Given the description of an element on the screen output the (x, y) to click on. 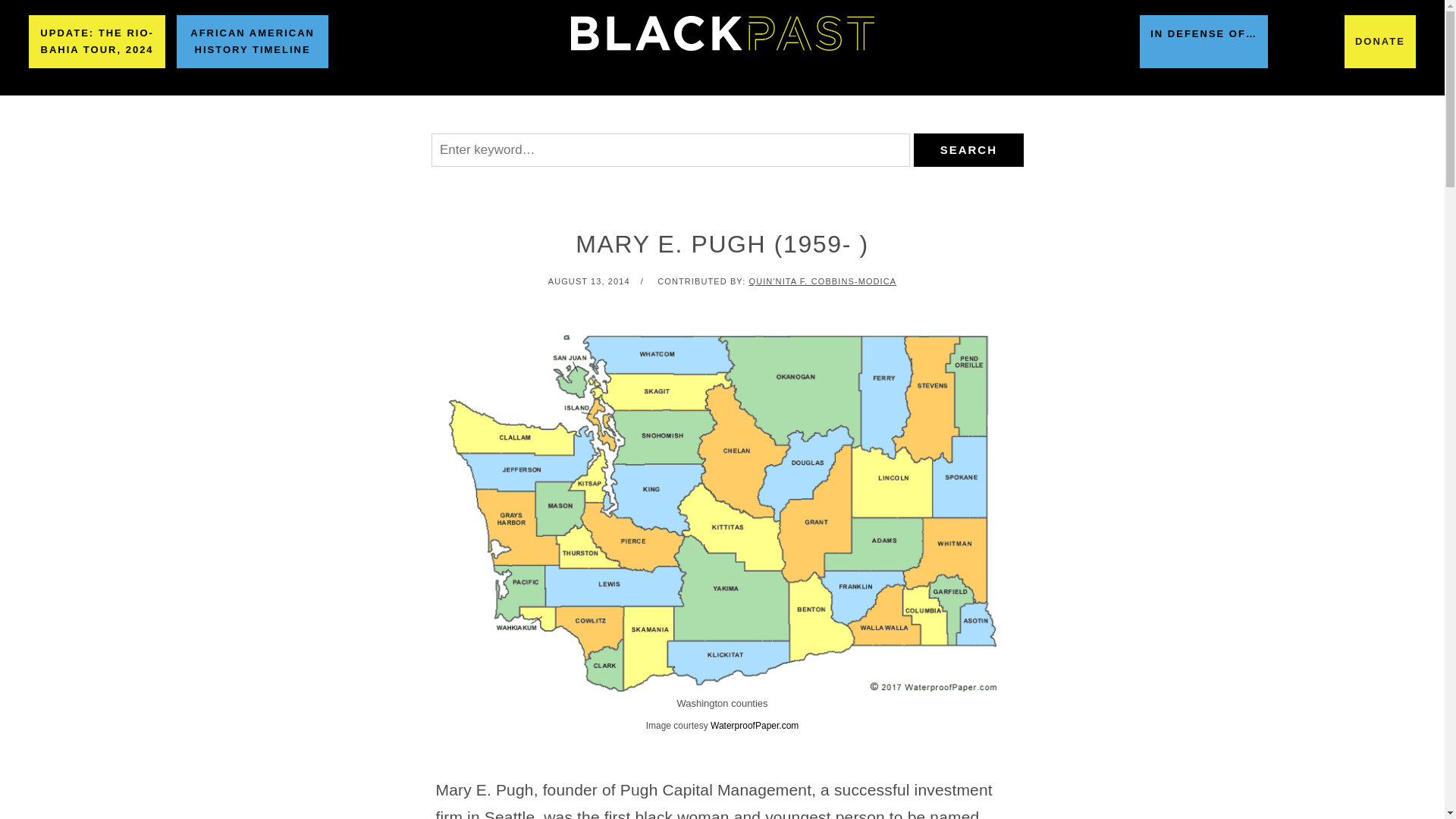
UPDATE: THE RIO-BAHIA TOUR, 2024 (97, 40)
GLOBAL AFRICAN HISTORY (629, 114)
DONATE (1379, 41)
AFRICAN AMERICAN HISTORY (414, 114)
AFRICAN AMERICAN HISTORY TIMELINE (252, 40)
